Given the description of an element on the screen output the (x, y) to click on. 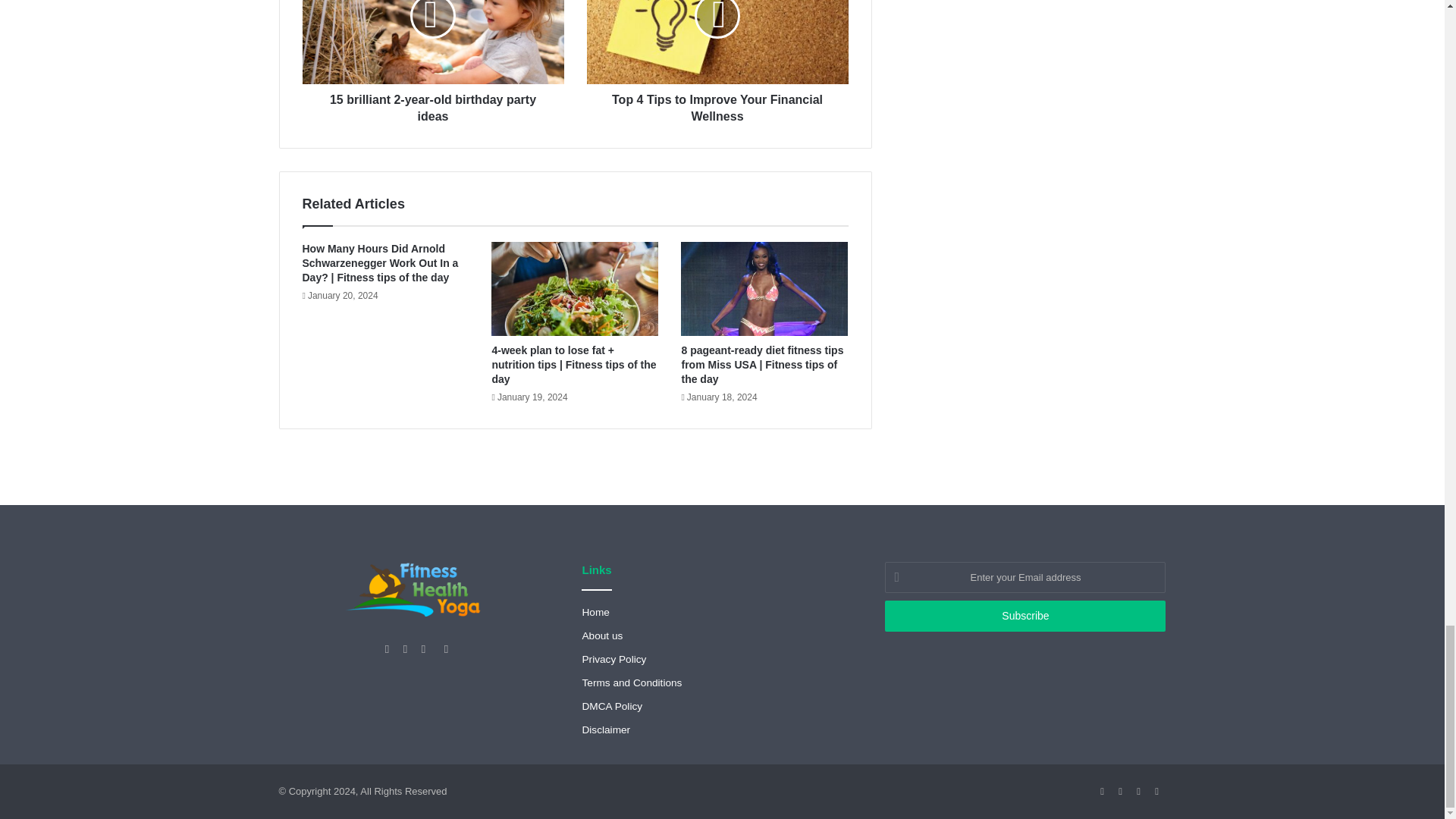
Subscribe (1025, 615)
